Given the description of an element on the screen output the (x, y) to click on. 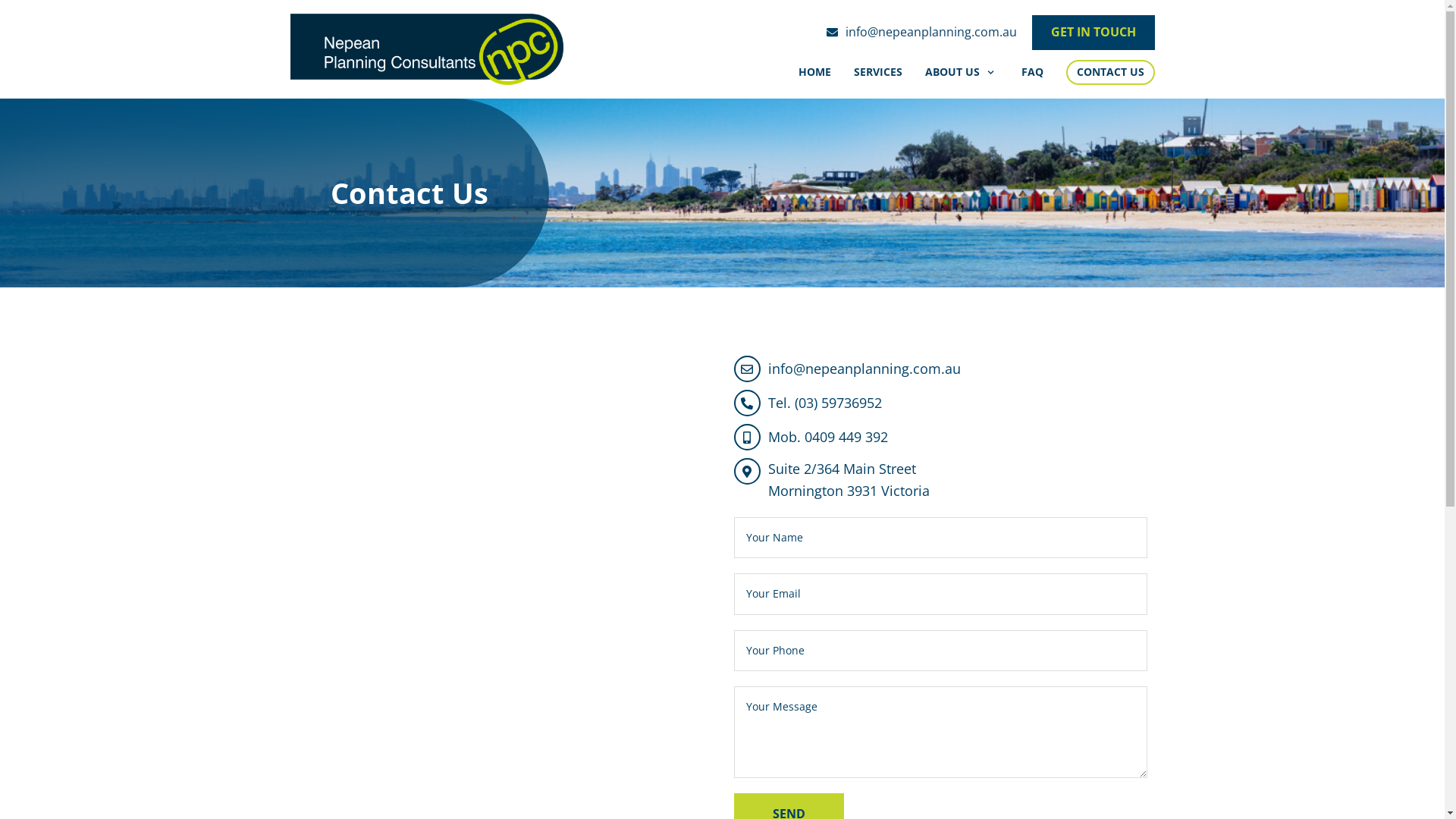
Nepean Planning Consultants Element type: hover (425, 48)
GET IN TOUCH Element type: text (1092, 32)
info@nepeanplanning.com.au Element type: text (921, 32)
HOME Element type: text (814, 71)
CONTACT US Element type: text (1110, 71)
FAQ Element type: text (1031, 71)
Mob. 0409 449 392 Element type: text (940, 436)
ABOUT US Element type: text (961, 71)
info@nepeanplanning.com.au Element type: text (940, 368)
SERVICES Element type: text (877, 71)
Tel. (03) 59736952 Element type: text (940, 402)
Skip to content Element type: text (15, 7)
